Given the description of an element on the screen output the (x, y) to click on. 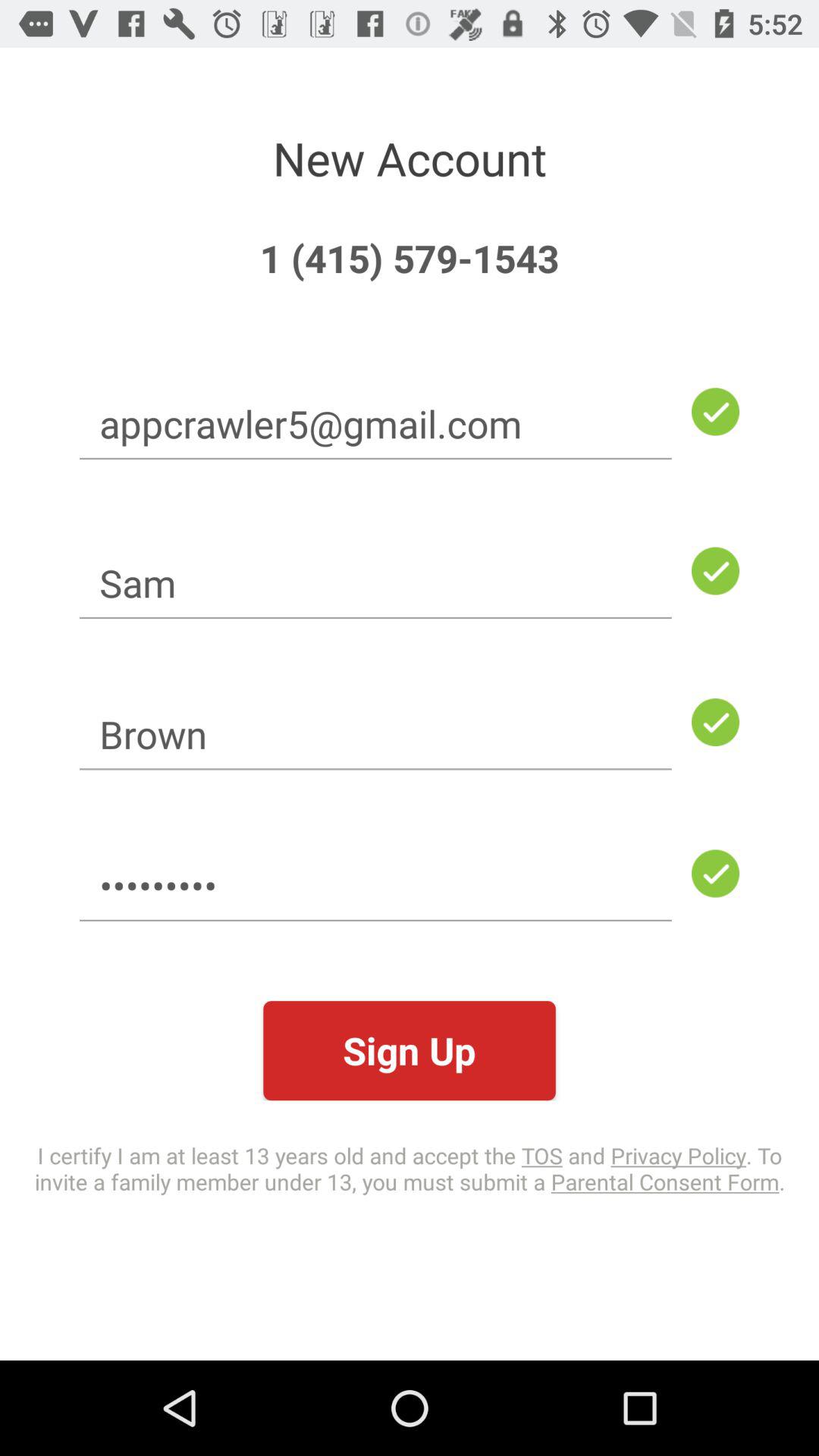
jump until the crowd3116 icon (375, 885)
